Given the description of an element on the screen output the (x, y) to click on. 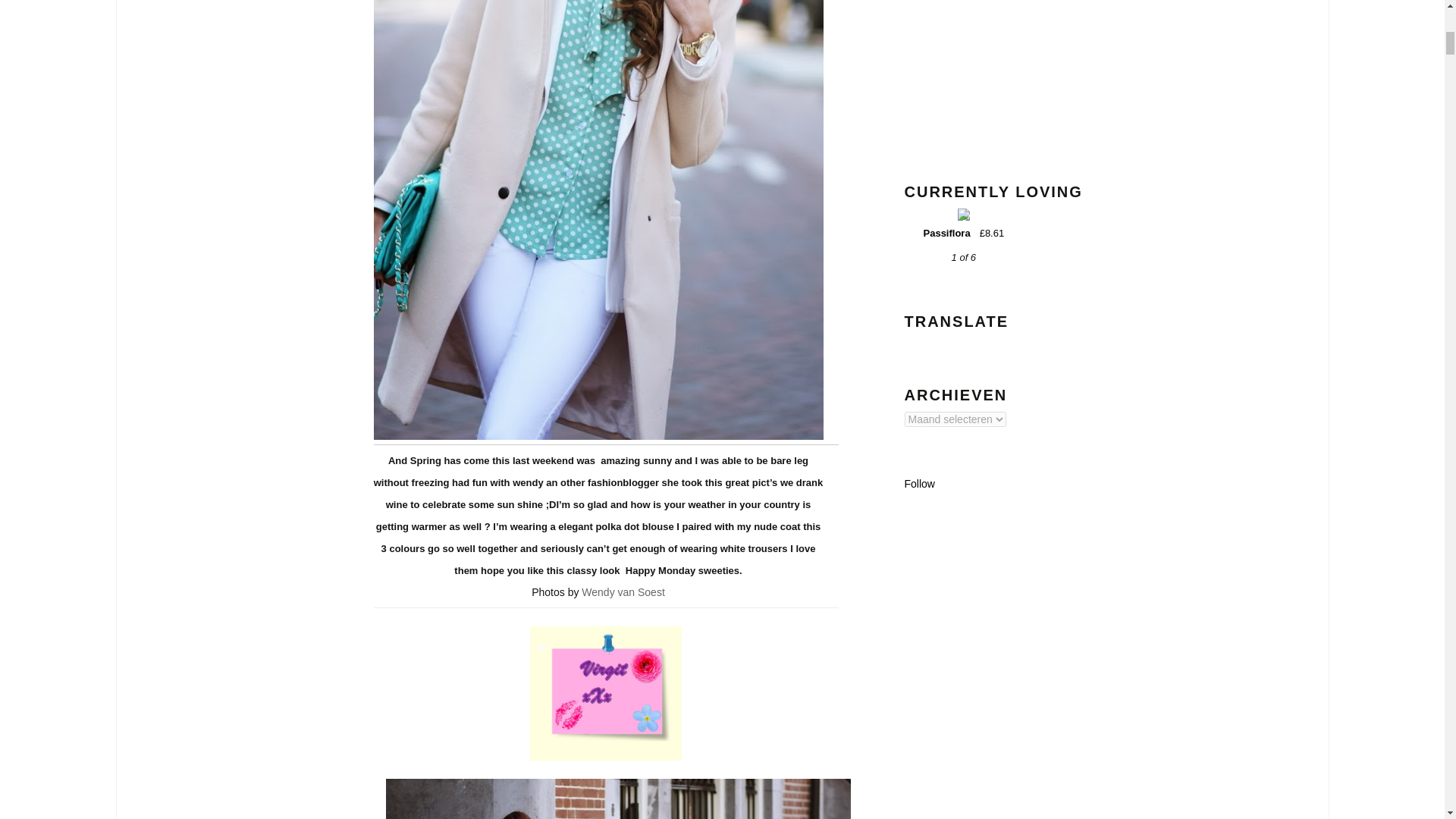
Wendy van Soest (621, 592)
